Given the description of an element on the screen output the (x, y) to click on. 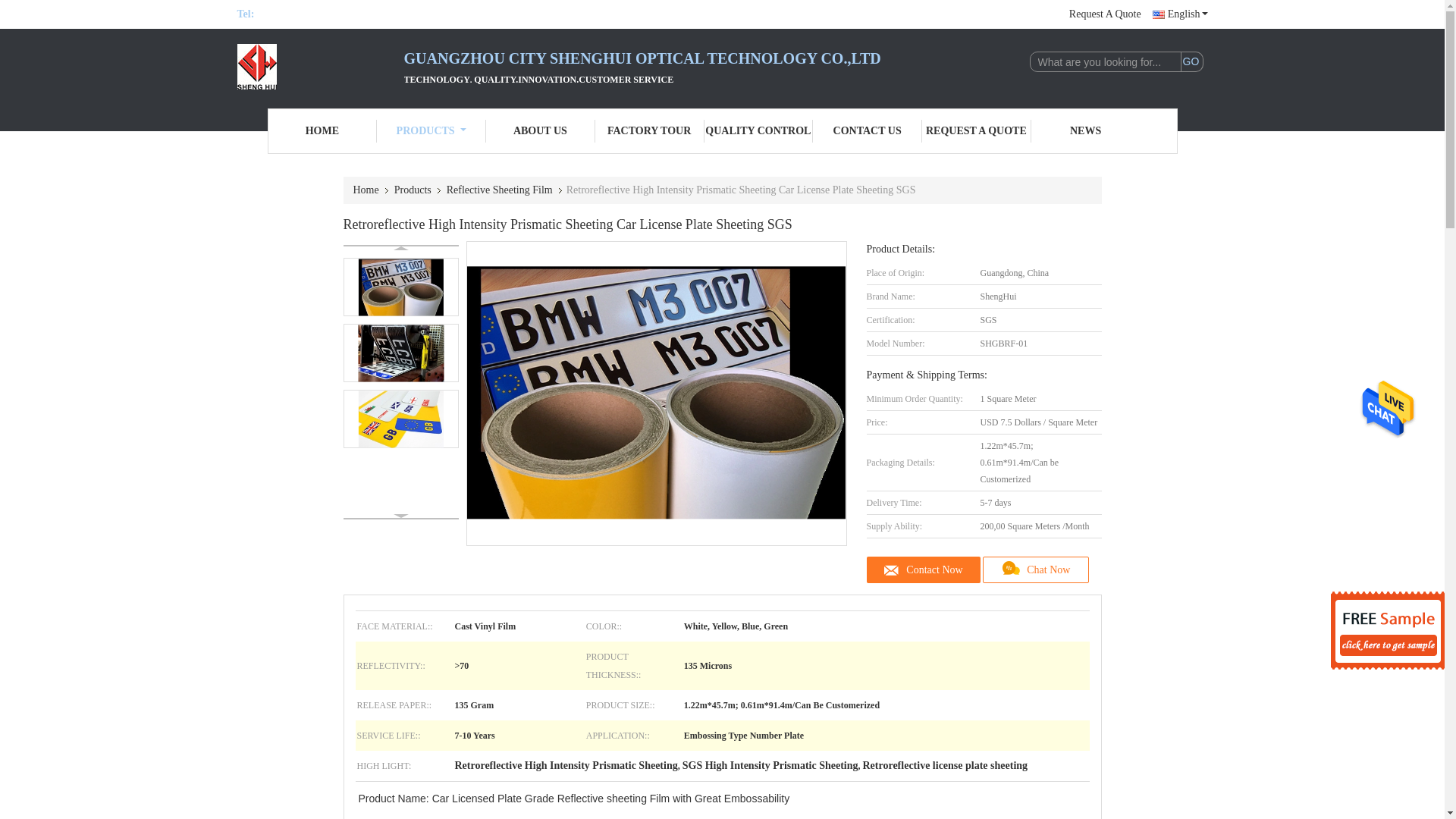
HOME (322, 130)
GO (1190, 61)
English (1180, 14)
GO (1190, 61)
PRODUCTS (431, 130)
Request A Quote (1104, 14)
